Given the description of an element on the screen output the (x, y) to click on. 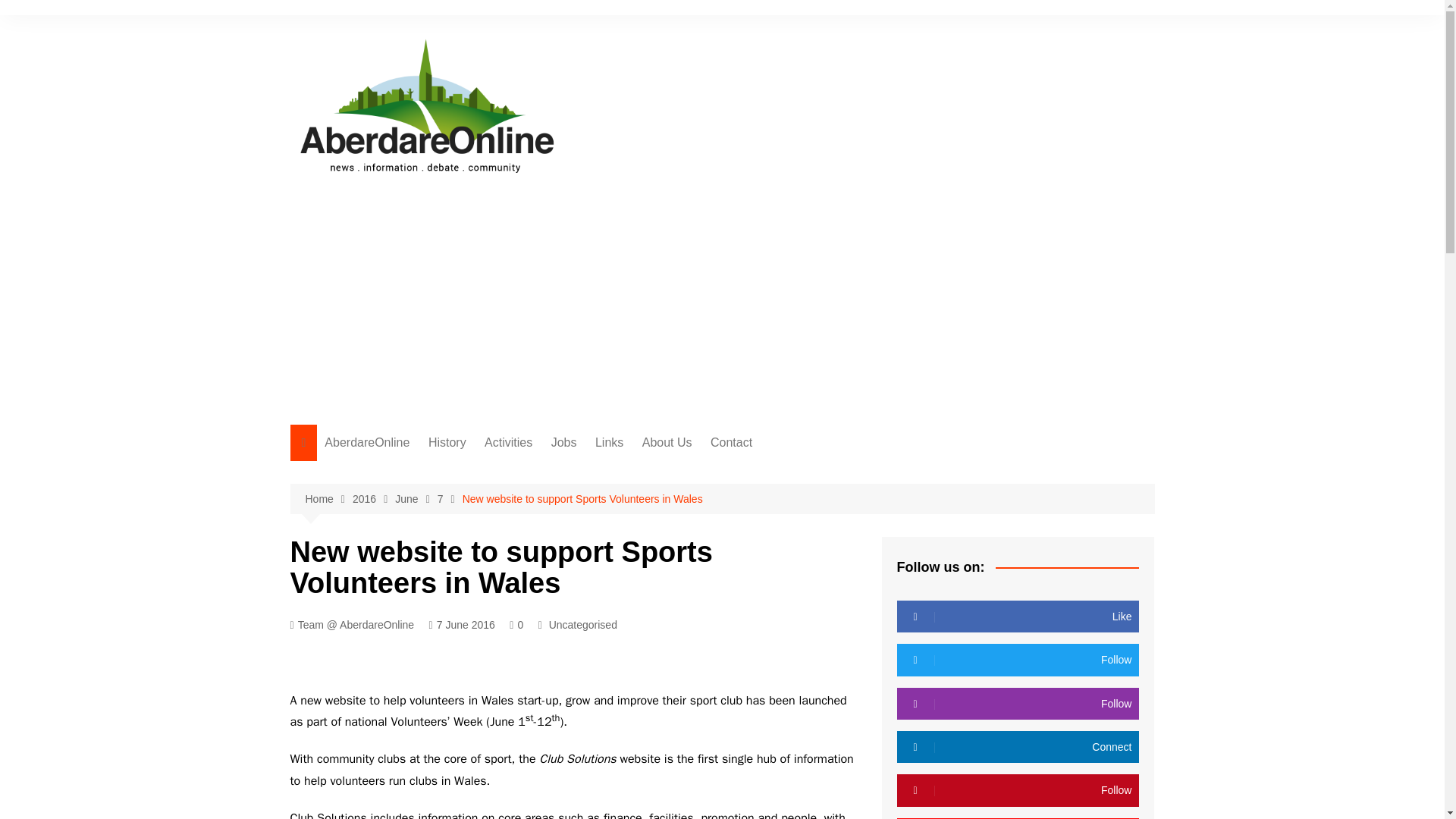
June (415, 498)
New website to support Sports Volunteers in Wales (583, 498)
Links (609, 443)
AberdareOnline (366, 443)
Uncategorised (582, 624)
Home (328, 498)
2016 (373, 498)
Activities (508, 443)
7 (450, 498)
